Given the description of an element on the screen output the (x, y) to click on. 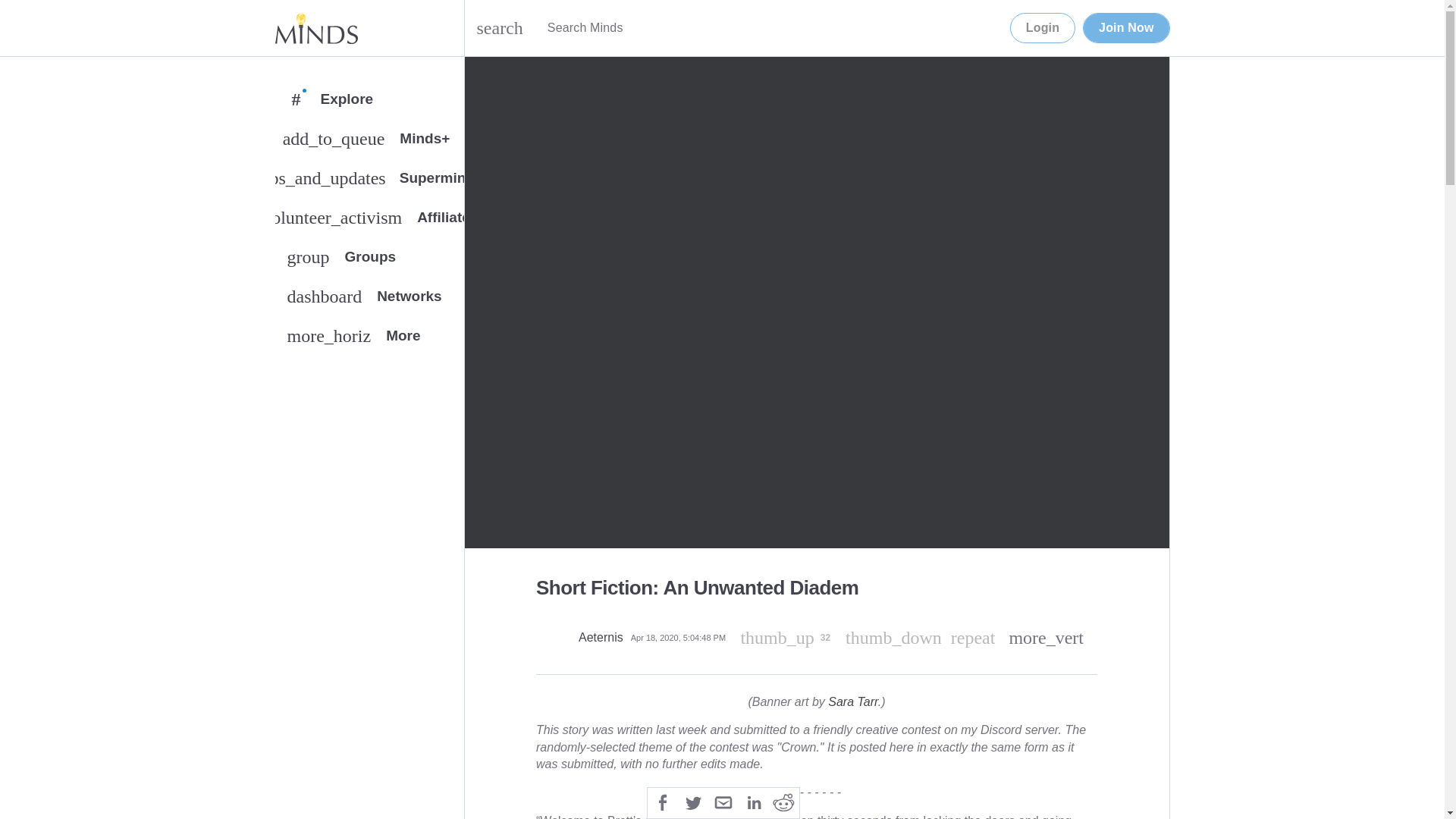
LinkedIn (753, 801)
Home (369, 299)
Email (315, 28)
Facebook (369, 260)
repeat (722, 801)
Sara Tarr (662, 801)
Join Now (972, 637)
Aeternis (852, 701)
Reddit (1126, 28)
Login (600, 637)
Join Now (783, 801)
Login (1042, 28)
Twitter (1126, 28)
